Given the description of an element on the screen output the (x, y) to click on. 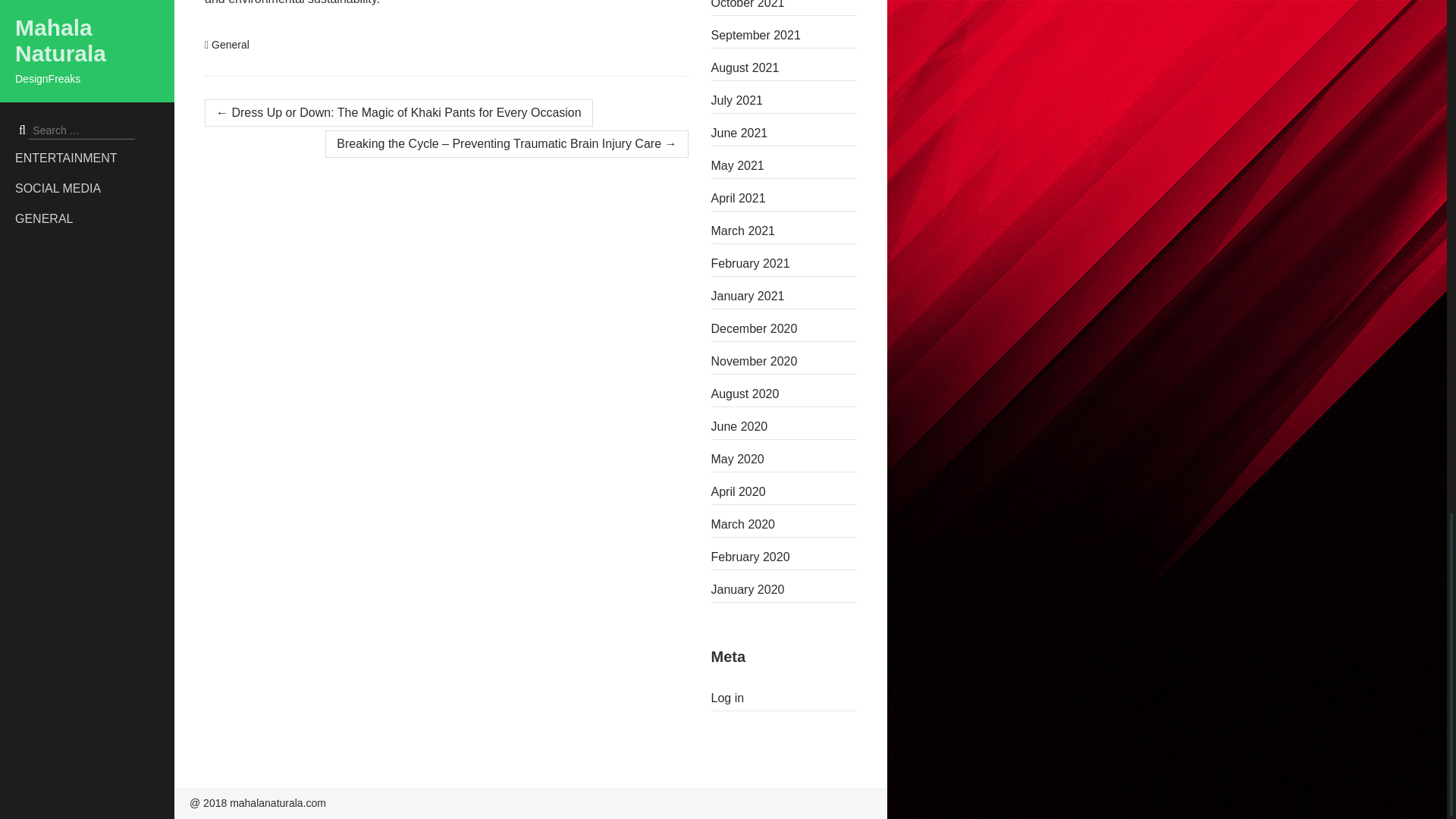
General (229, 44)
